Given the description of an element on the screen output the (x, y) to click on. 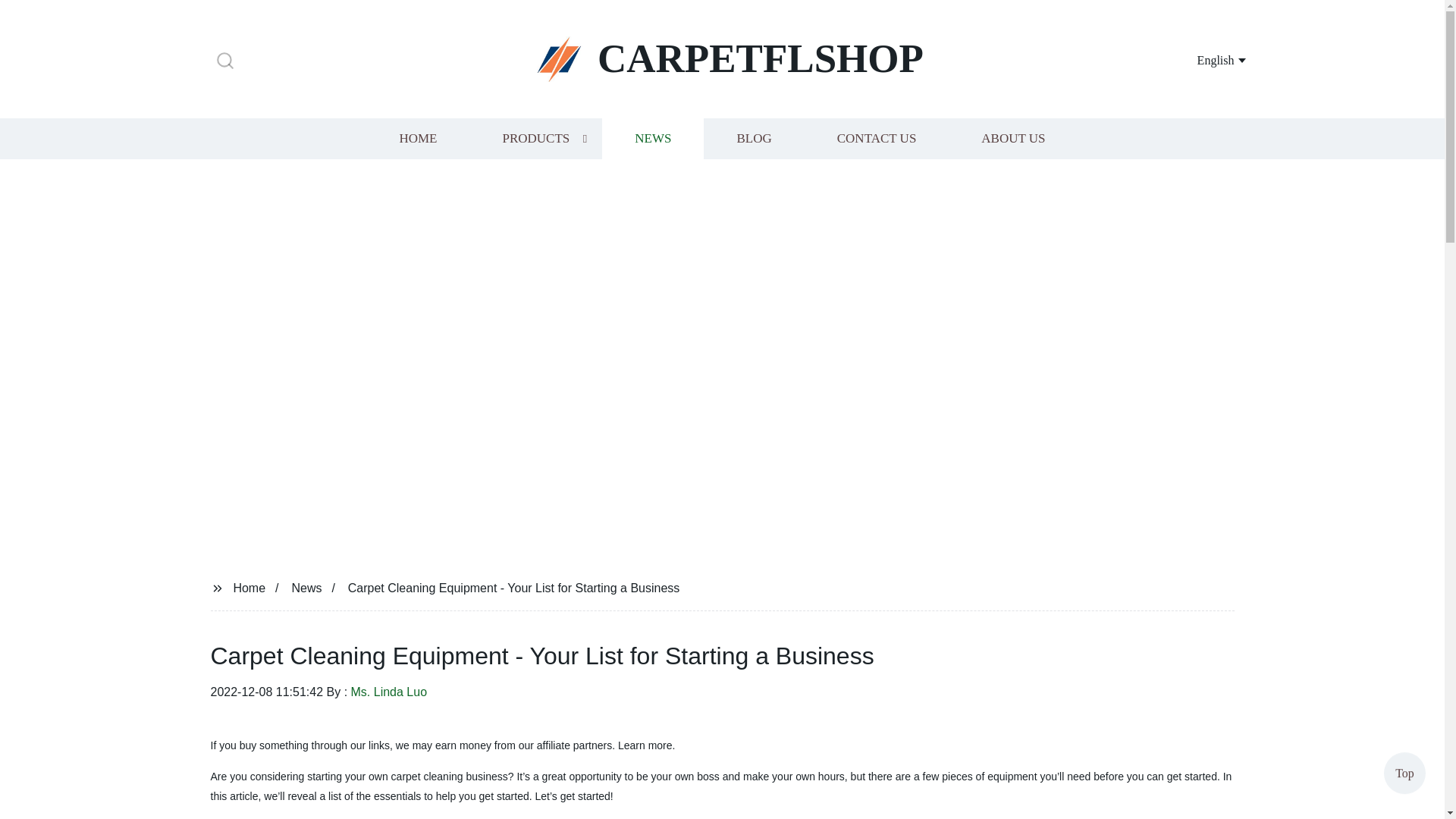
HOME (417, 137)
News (306, 586)
English (1203, 59)
Top (1404, 776)
ABOUT US (1013, 137)
NEWS (652, 137)
Home (248, 586)
PRODUCTS (535, 137)
English (1203, 59)
CONTACT US (877, 137)
BLOG (753, 137)
